Given the description of an element on the screen output the (x, y) to click on. 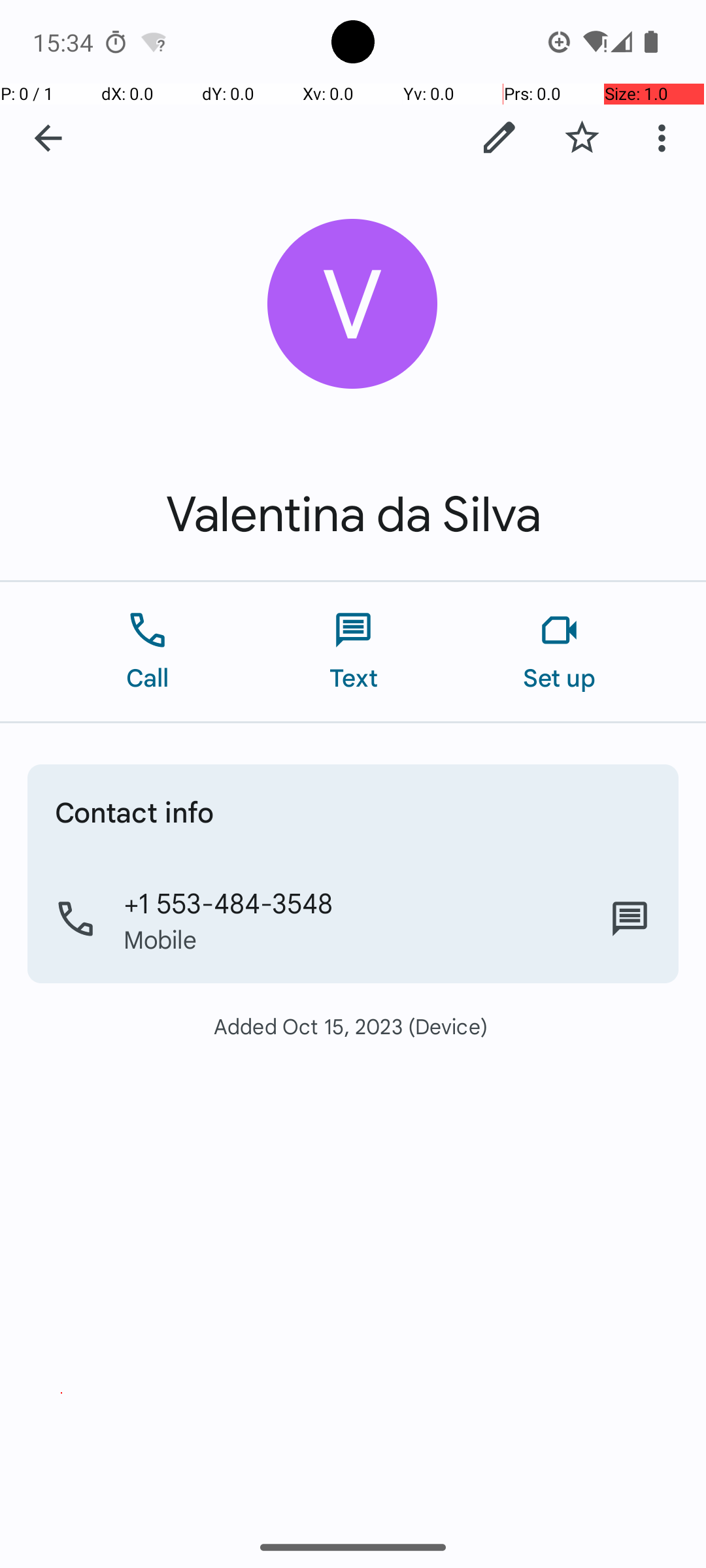
Valentina da Silva Element type: android.widget.TextView (352, 514)
Call Mobile +1 553-484-3548 Element type: android.widget.RelativeLayout (352, 919)
Added Oct 15, 2023 (Device)  Element type: android.widget.TextView (352, 1025)
+1 553-484-3548 Element type: android.widget.TextView (228, 901)
Text Mobile +1 553-484-3548 Element type: android.widget.Button (629, 919)
